Given the description of an element on the screen output the (x, y) to click on. 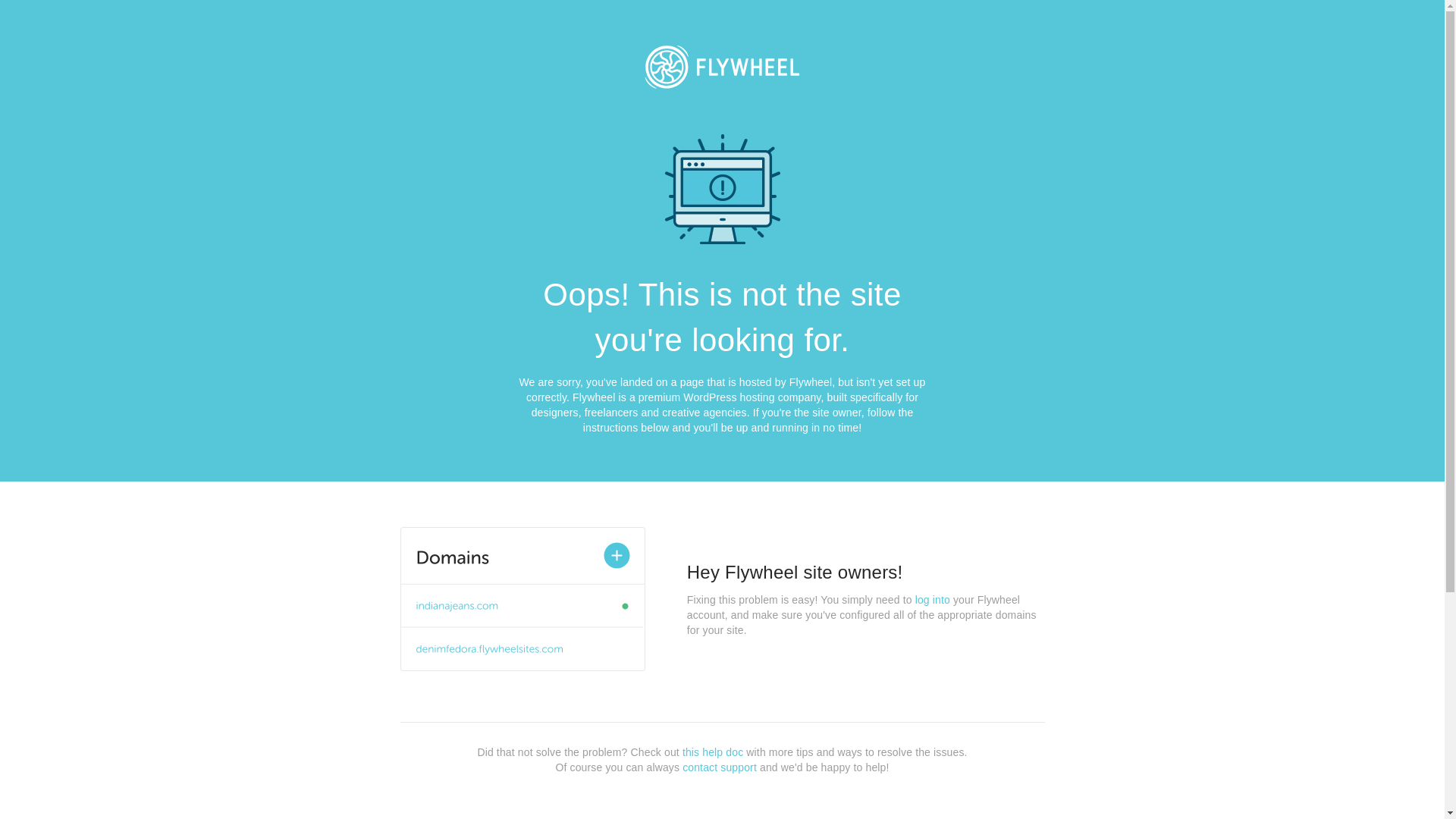
log into Element type: text (932, 599)
this help doc Element type: text (712, 752)
contact support Element type: text (719, 767)
